Given the description of an element on the screen output the (x, y) to click on. 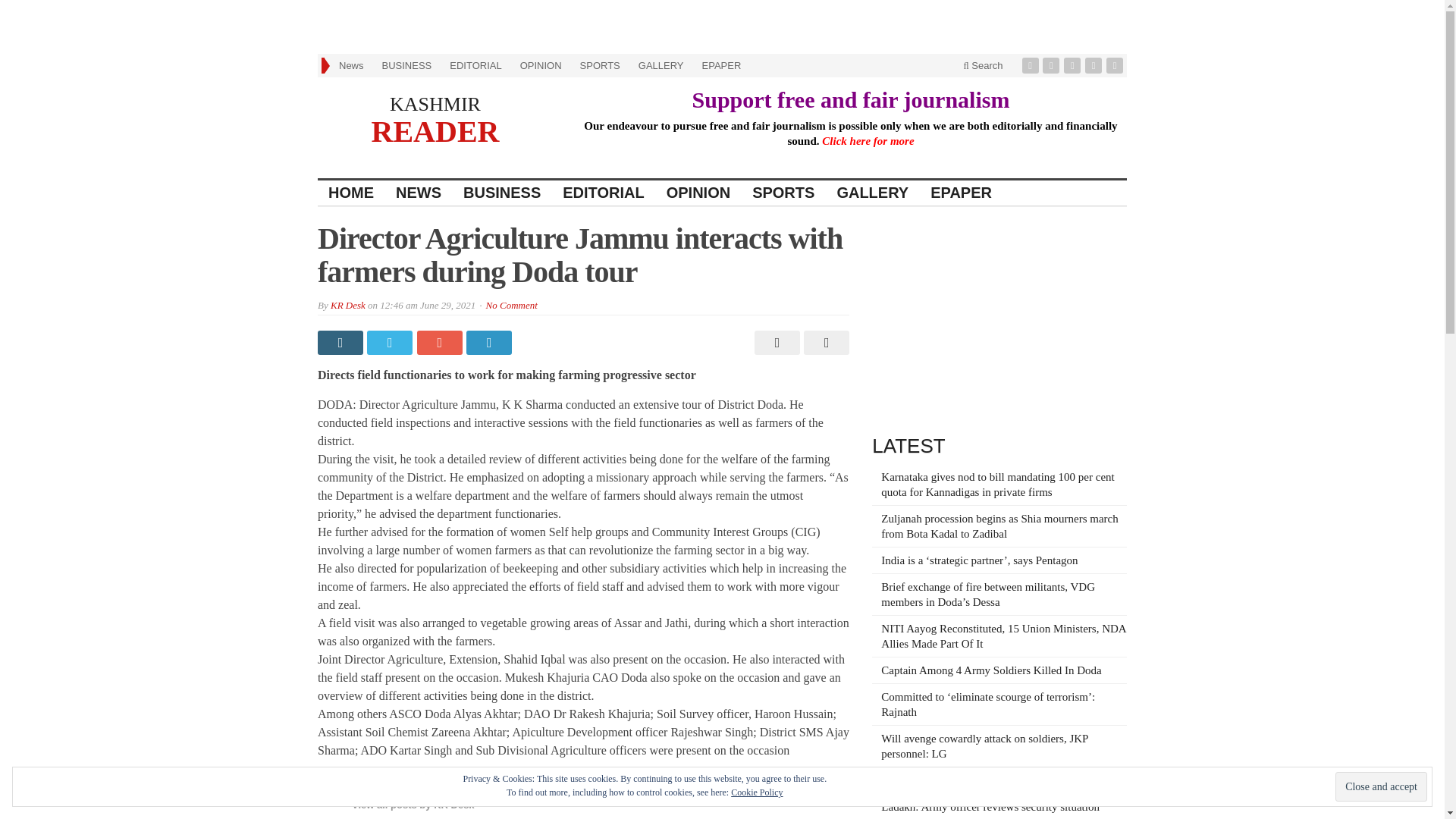
Share on Facebook (341, 342)
BUSINESS (501, 192)
SPORTS (783, 192)
OPINION (698, 192)
SPORTS (599, 65)
Daily Newspaper (435, 130)
EPAPER (961, 192)
READER (435, 130)
EPAPER (722, 65)
Site feed (1115, 65)
